Given the description of an element on the screen output the (x, y) to click on. 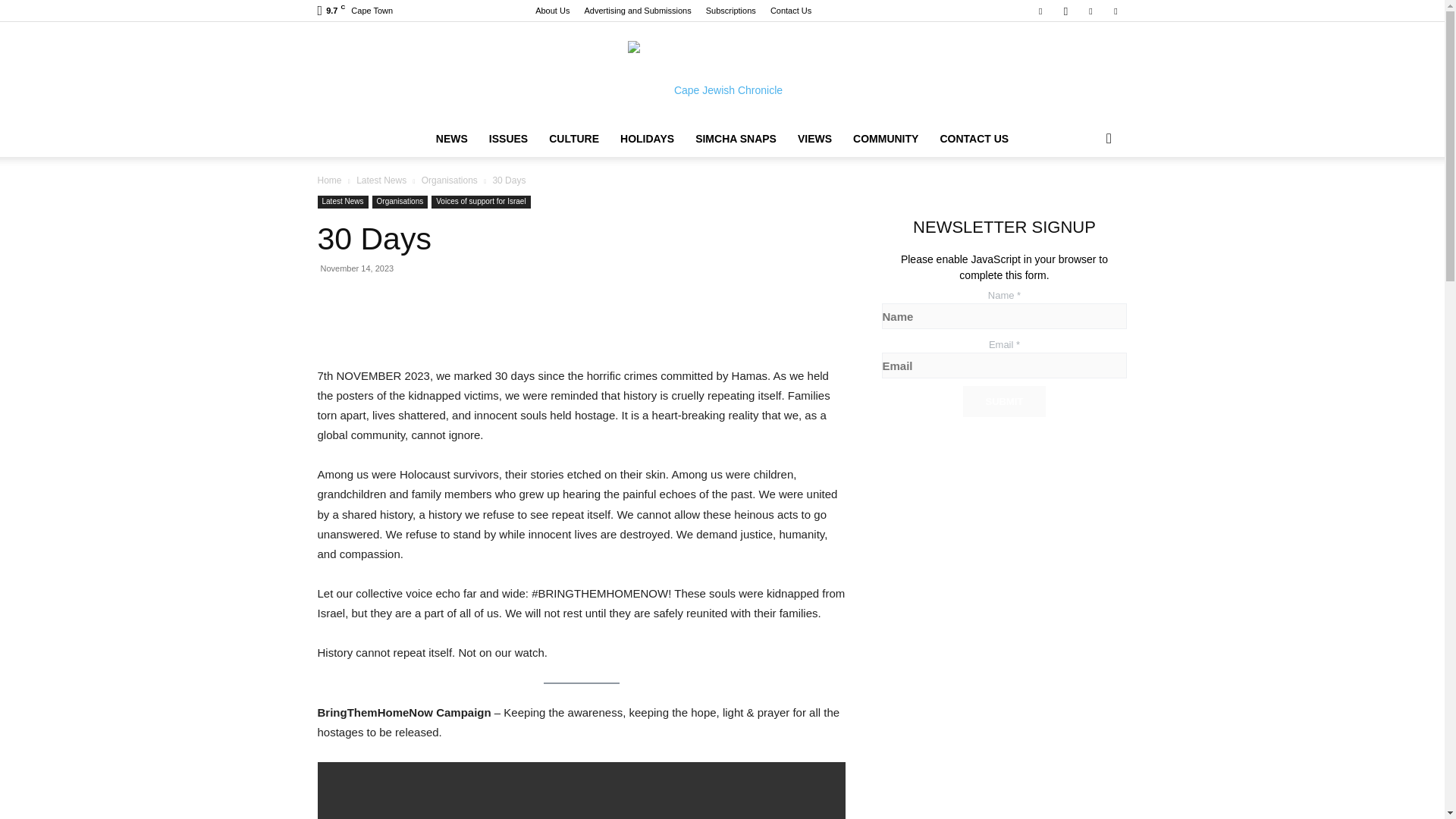
Contact Us (790, 10)
Advertising and Submissions (636, 10)
NEWS (452, 138)
Subscriptions (730, 10)
View all posts in Latest News (381, 180)
Instagram (1065, 10)
Twitter (1114, 10)
Linkedin (1090, 10)
About Us (552, 10)
Facebook (1040, 10)
ISSUES (508, 138)
View all posts in Organisations (449, 180)
